Given the description of an element on the screen output the (x, y) to click on. 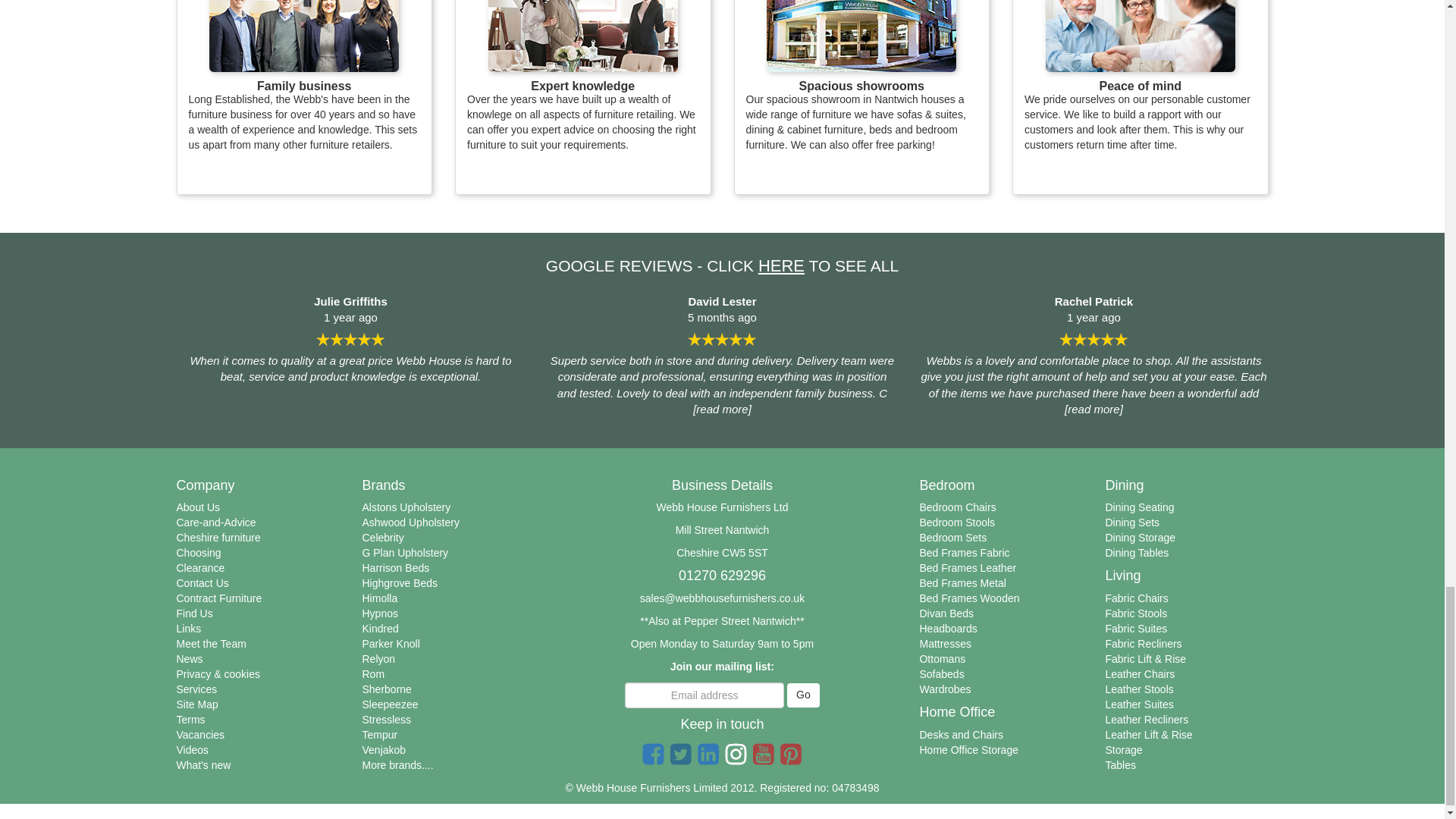
Knowledgeable staff (582, 36)
Howard and Joan (303, 36)
